Given the description of an element on the screen output the (x, y) to click on. 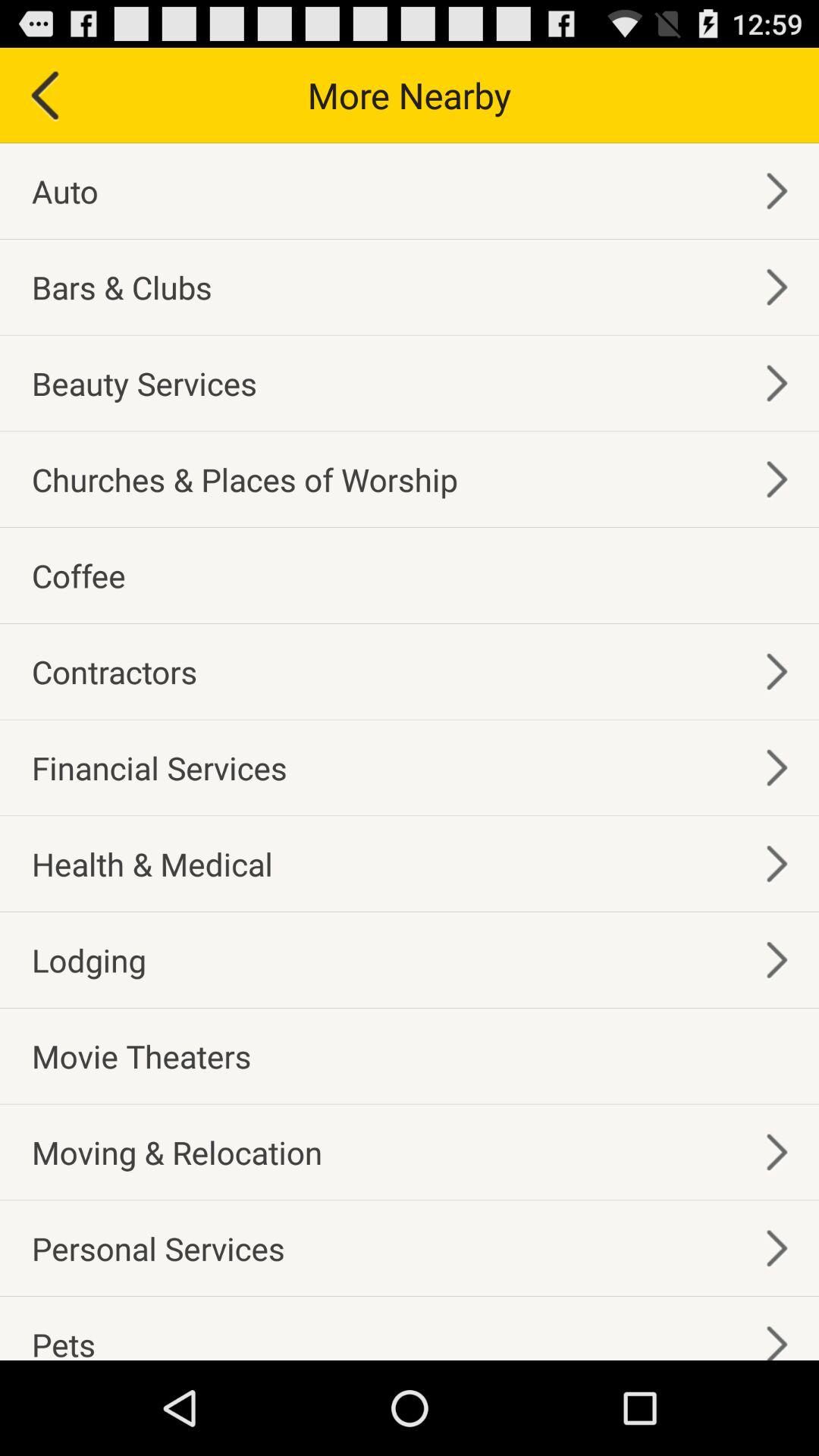
click the item below the churches places of item (78, 575)
